Given the description of an element on the screen output the (x, y) to click on. 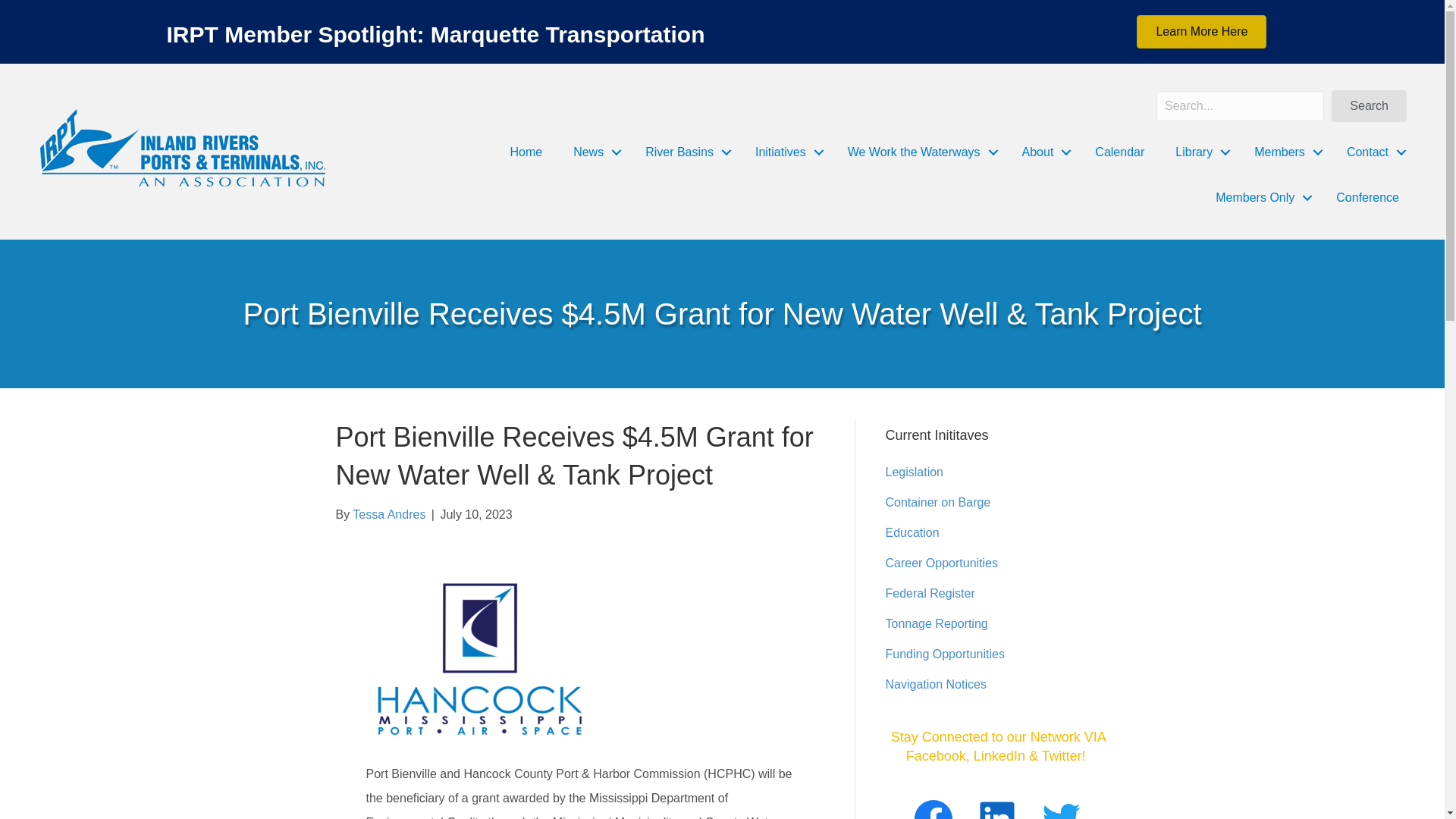
Initiatives (785, 152)
Learn More Here (1201, 31)
We Work the Waterways (919, 152)
Search (1369, 106)
River Basins (684, 152)
logo5 (181, 147)
About (1043, 152)
News (592, 152)
Home (526, 152)
